Given the description of an element on the screen output the (x, y) to click on. 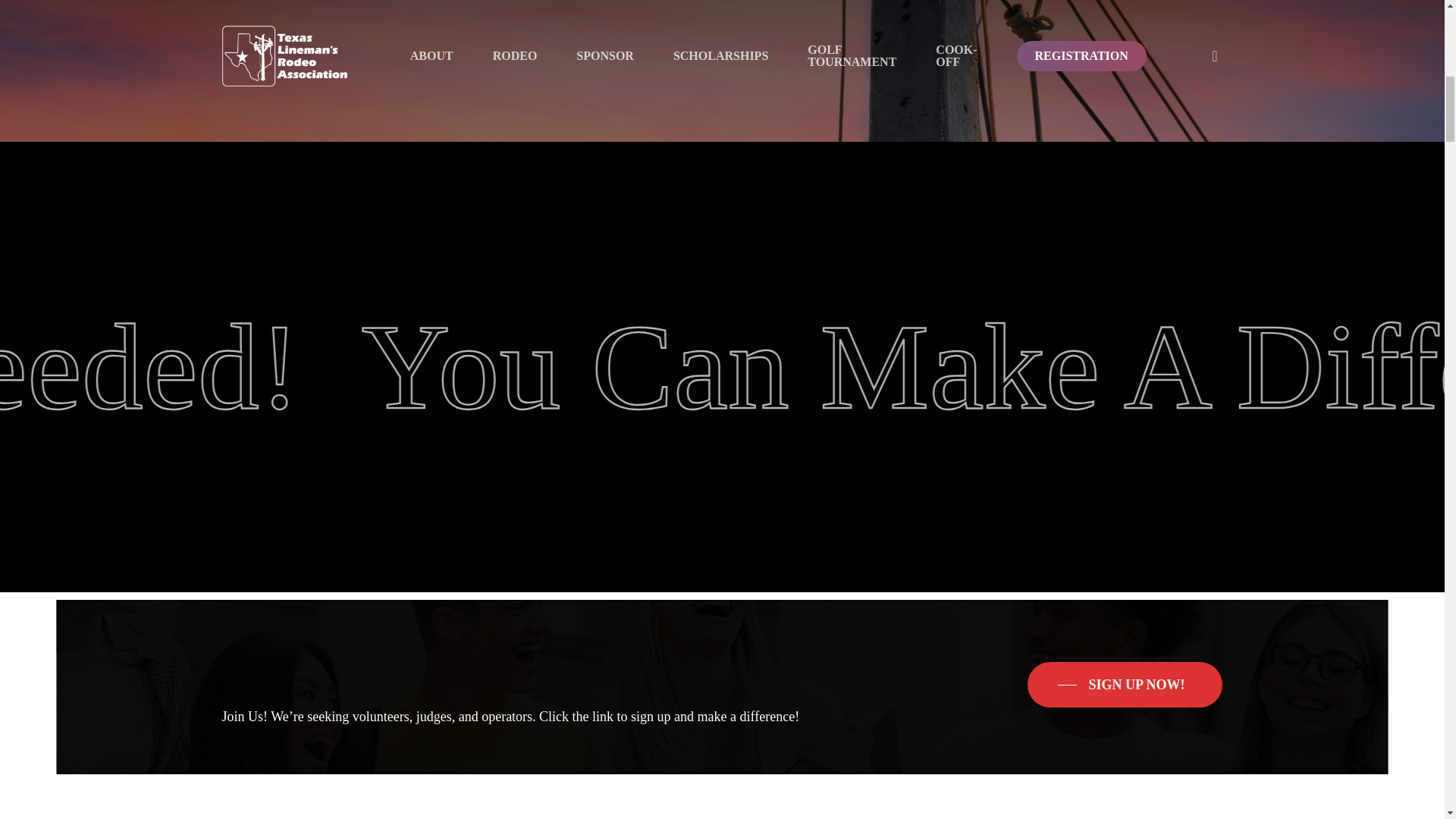
SIGN UP NOW! (1125, 684)
